Given the description of an element on the screen output the (x, y) to click on. 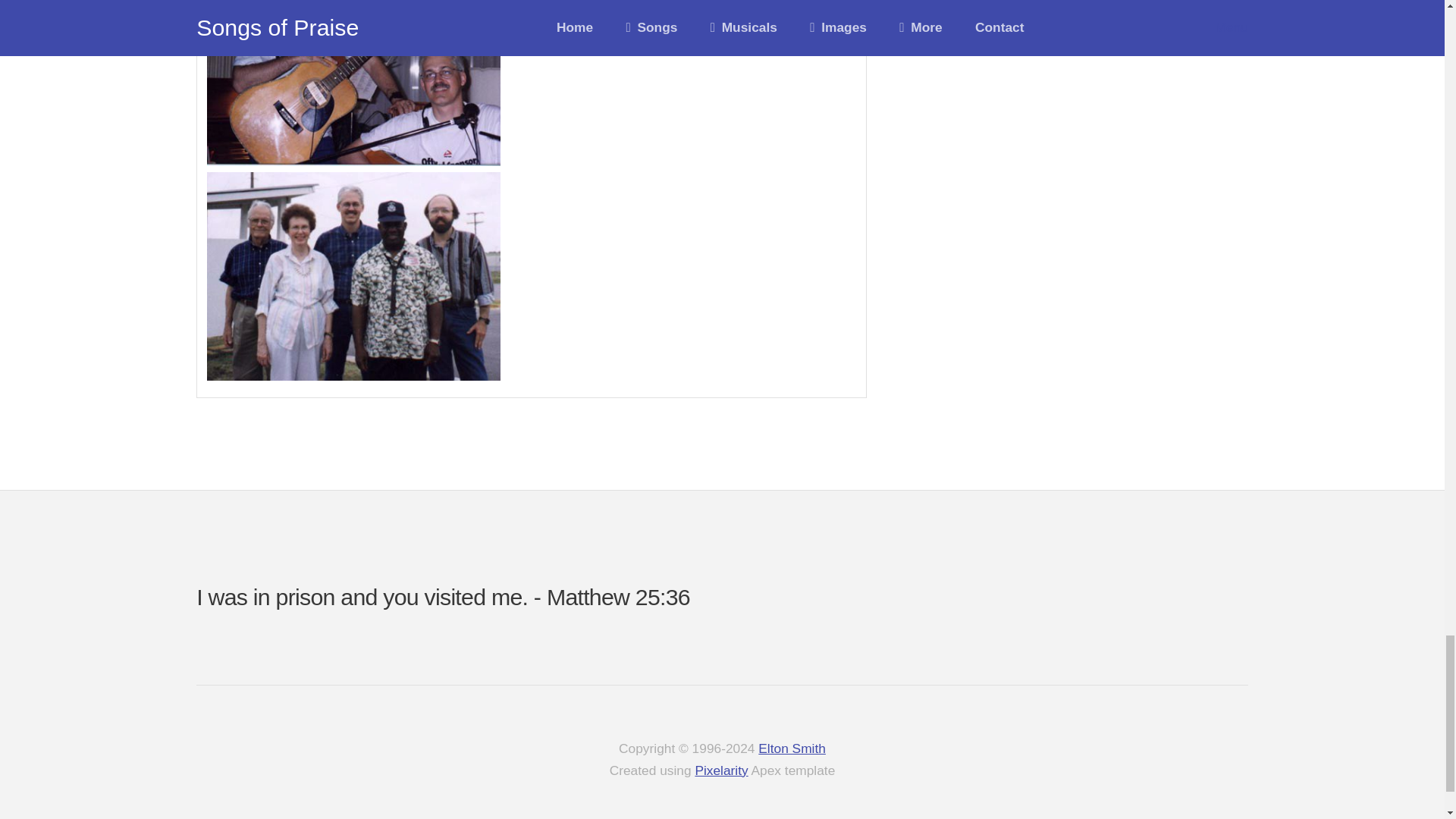
Elton Smith (791, 748)
Pixelarity (721, 770)
